Given the description of an element on the screen output the (x, y) to click on. 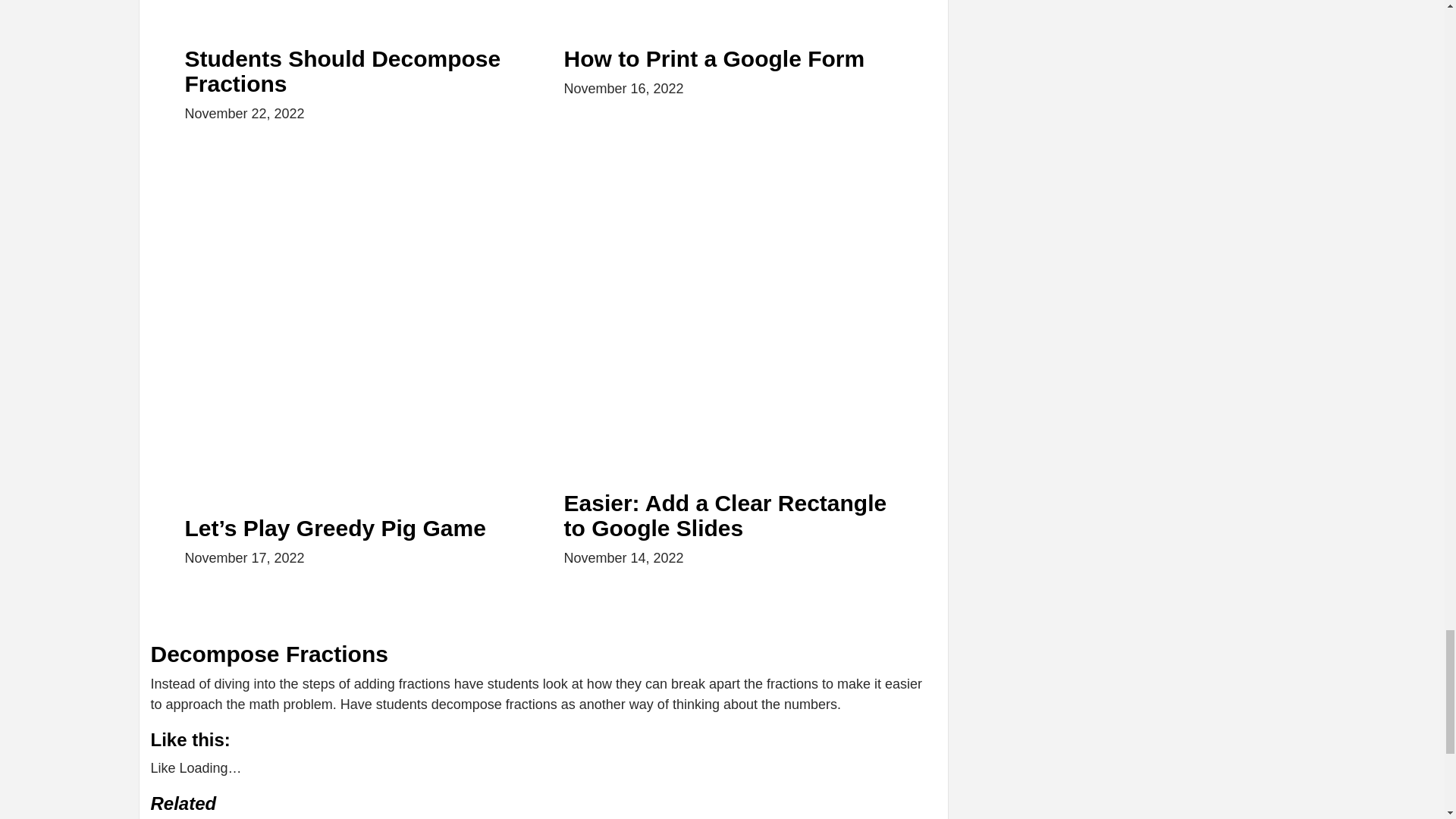
Related (542, 803)
